Given the description of an element on the screen output the (x, y) to click on. 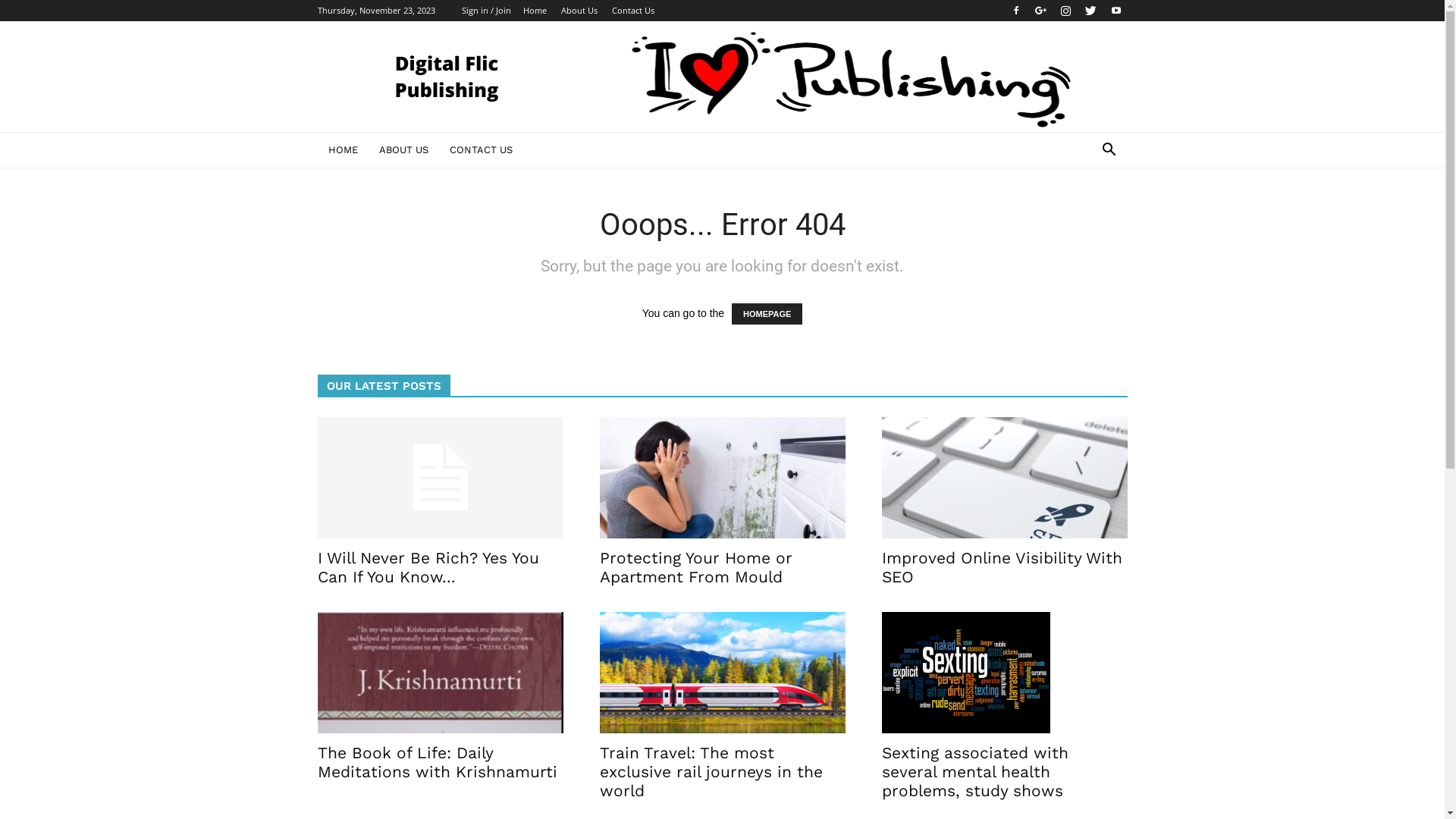
Improved Online Visibility With SEO Element type: hover (1003, 477)
HOMEPAGE Element type: text (766, 313)
The Book of Life: Daily Meditations with Krishnamurti Element type: hover (439, 672)
Sign in / Join Element type: text (485, 9)
Home Element type: text (534, 9)
I Will Never Be Rich? Yes You Can If You Know... Element type: text (427, 567)
Protecting Your Home or Apartment From Mould Element type: hover (721, 477)
Youtube Element type: hover (1115, 10)
Google+ Element type: hover (1040, 10)
Train Travel: The most exclusive rail journeys in the world Element type: text (710, 771)
HOME Element type: text (341, 149)
I Will Never Be Rich? Yes You Can If You Know How Element type: hover (439, 477)
Improved Online Visibility With SEO Element type: text (1001, 567)
Search Element type: text (1085, 210)
Contact Us Element type: text (632, 9)
Facebook Element type: hover (1015, 10)
Protecting Your Home or Apartment From Mould Element type: text (695, 567)
Twitter Element type: hover (1090, 10)
The Book of Life: Daily Meditations with Krishnamurti Element type: text (436, 762)
CONTACT US Element type: text (480, 149)
Instagram Element type: hover (1065, 10)
About Us Element type: text (579, 9)
ABOUT US Element type: text (403, 149)
Train Travel: The most exclusive rail journeys in the world Element type: hover (721, 672)
